Given the description of an element on the screen output the (x, y) to click on. 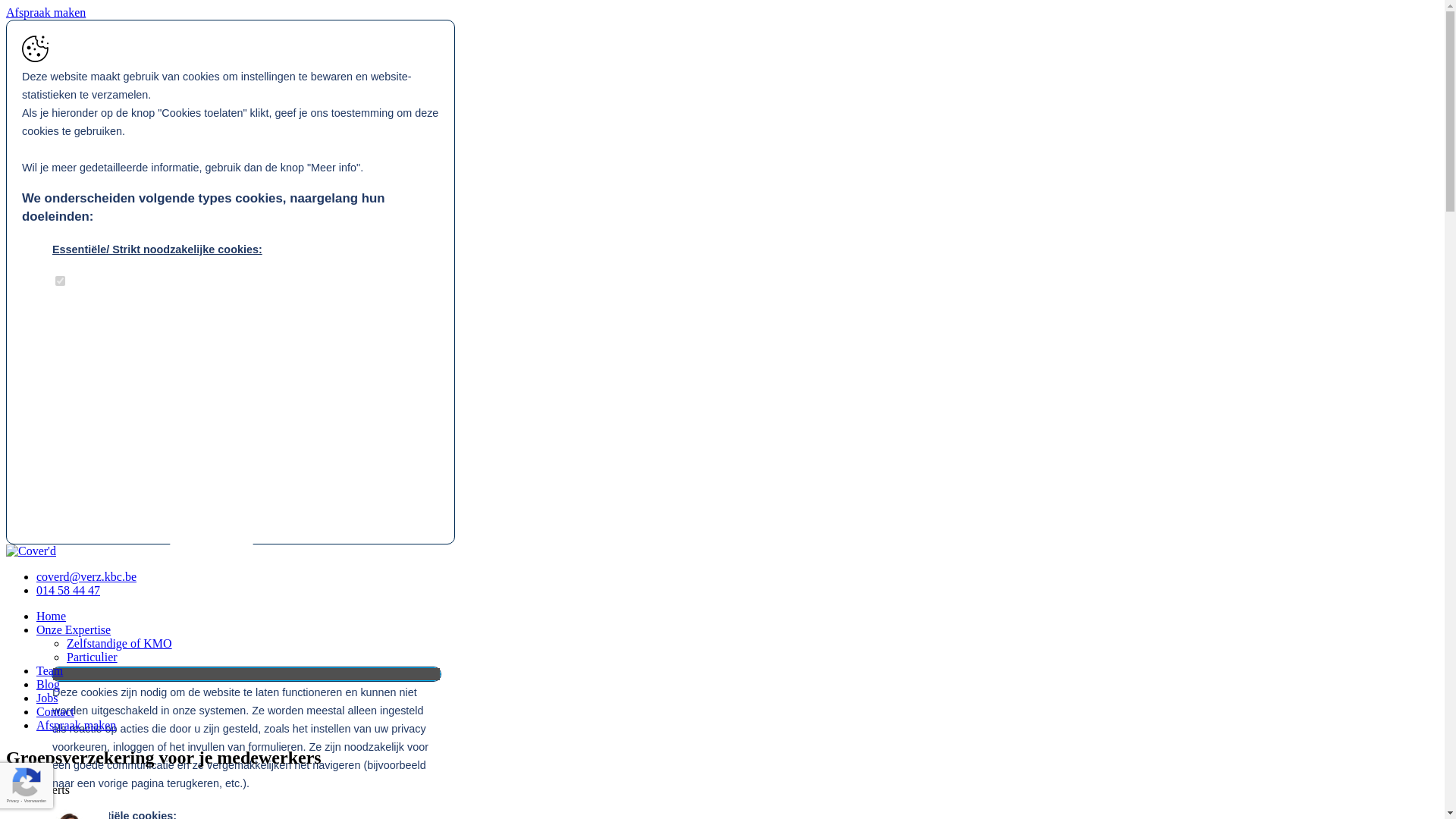
Afspraak maken Element type: text (45, 12)
Contact Element type: text (55, 711)
Team Element type: text (49, 670)
Onze Expertise Element type: text (73, 629)
Blog Element type: text (47, 683)
014 58 44 47 Element type: text (68, 589)
Jobs Element type: text (46, 697)
Home Element type: text (50, 615)
Zelfstandige of KMO Element type: text (119, 643)
Particulier Element type: text (91, 656)
coverd@verz.kbc.be Element type: text (86, 576)
Afspraak maken Element type: text (76, 724)
